Given the description of an element on the screen output the (x, y) to click on. 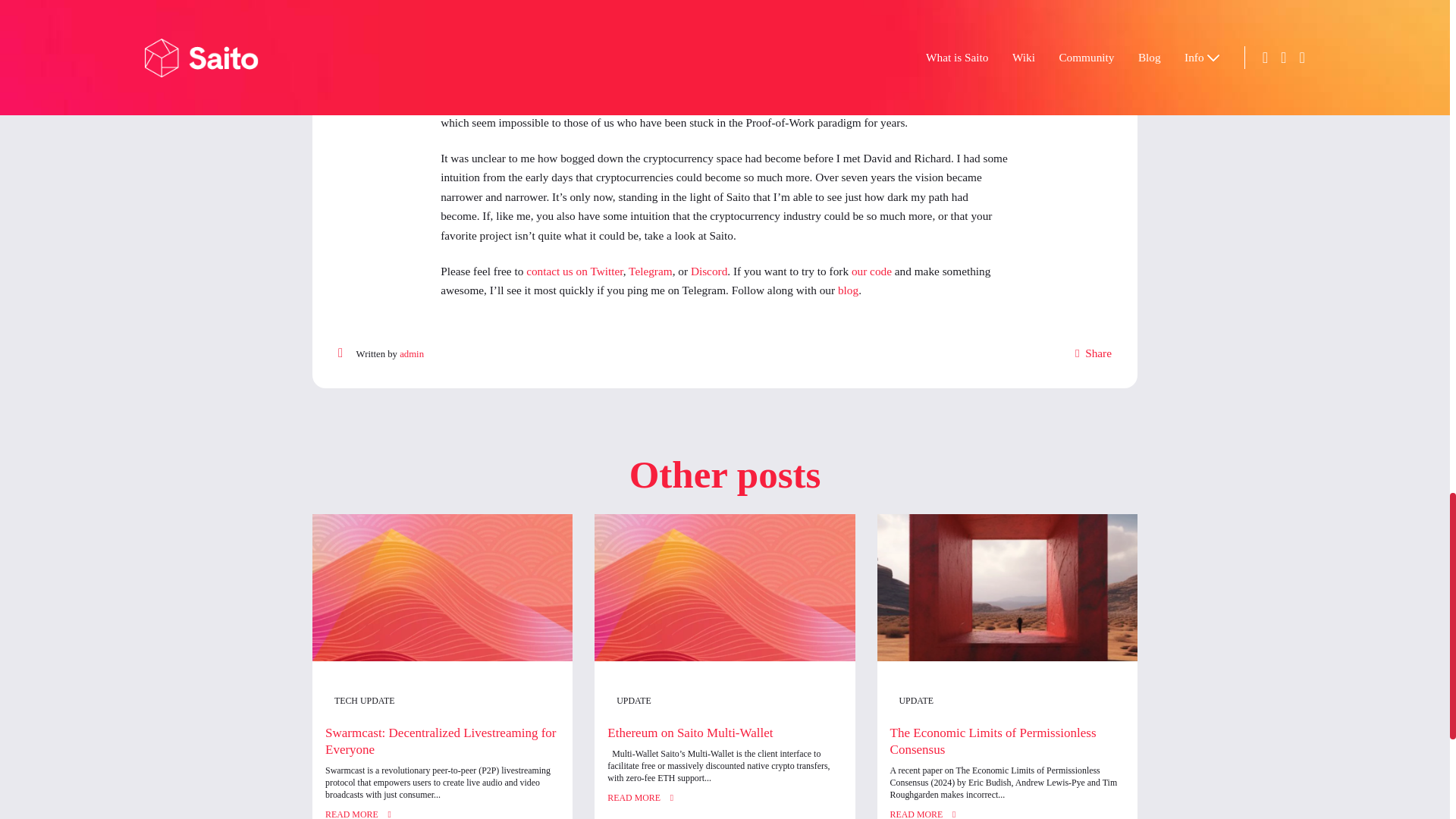
contact us on Twitter (676, 607)
blog (997, 630)
Discord (834, 607)
our code (1024, 607)
Telegram (764, 607)
Posts by admin (484, 705)
admin (484, 705)
